Given the description of an element on the screen output the (x, y) to click on. 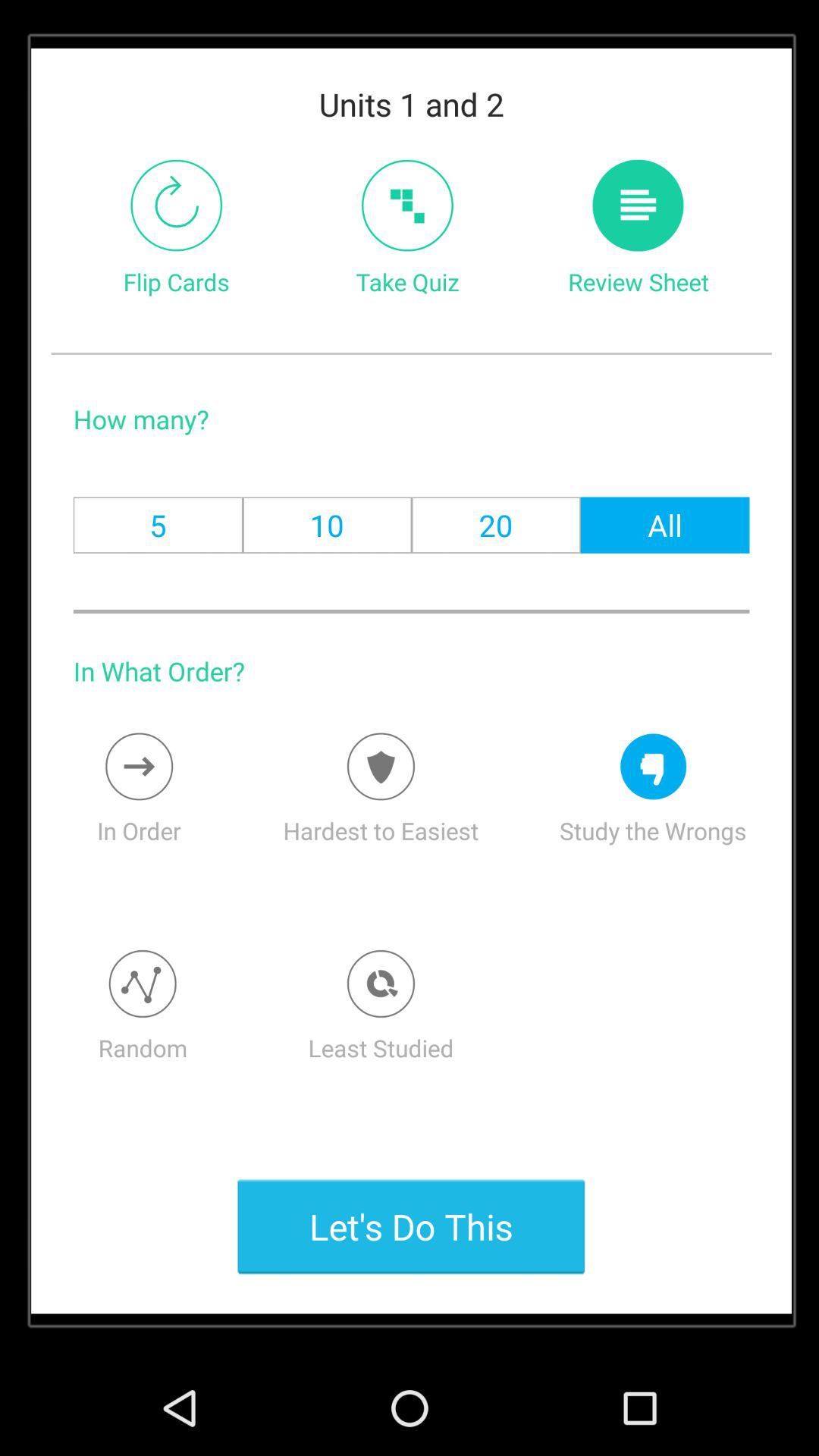
picks a random card (142, 983)
